Given the description of an element on the screen output the (x, y) to click on. 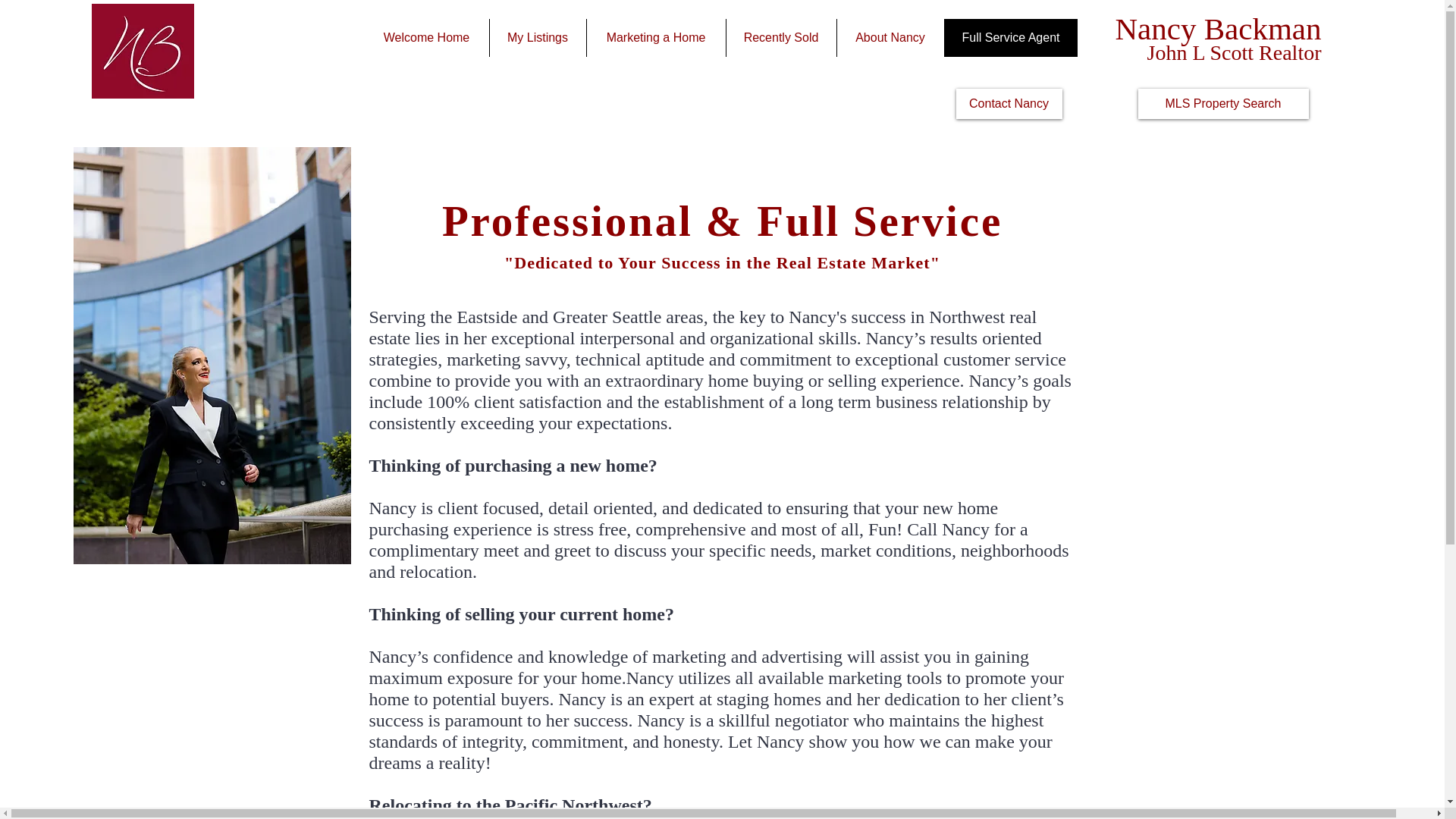
Full Service Agent (1010, 37)
Marketing a Home (655, 37)
Nancy (1155, 28)
My Listings (536, 37)
Welcome Home (425, 37)
MLS Property Search (1222, 103)
Contact Nancy (1008, 103)
About Nancy (889, 37)
Recently Sold (780, 37)
